Given the description of an element on the screen output the (x, y) to click on. 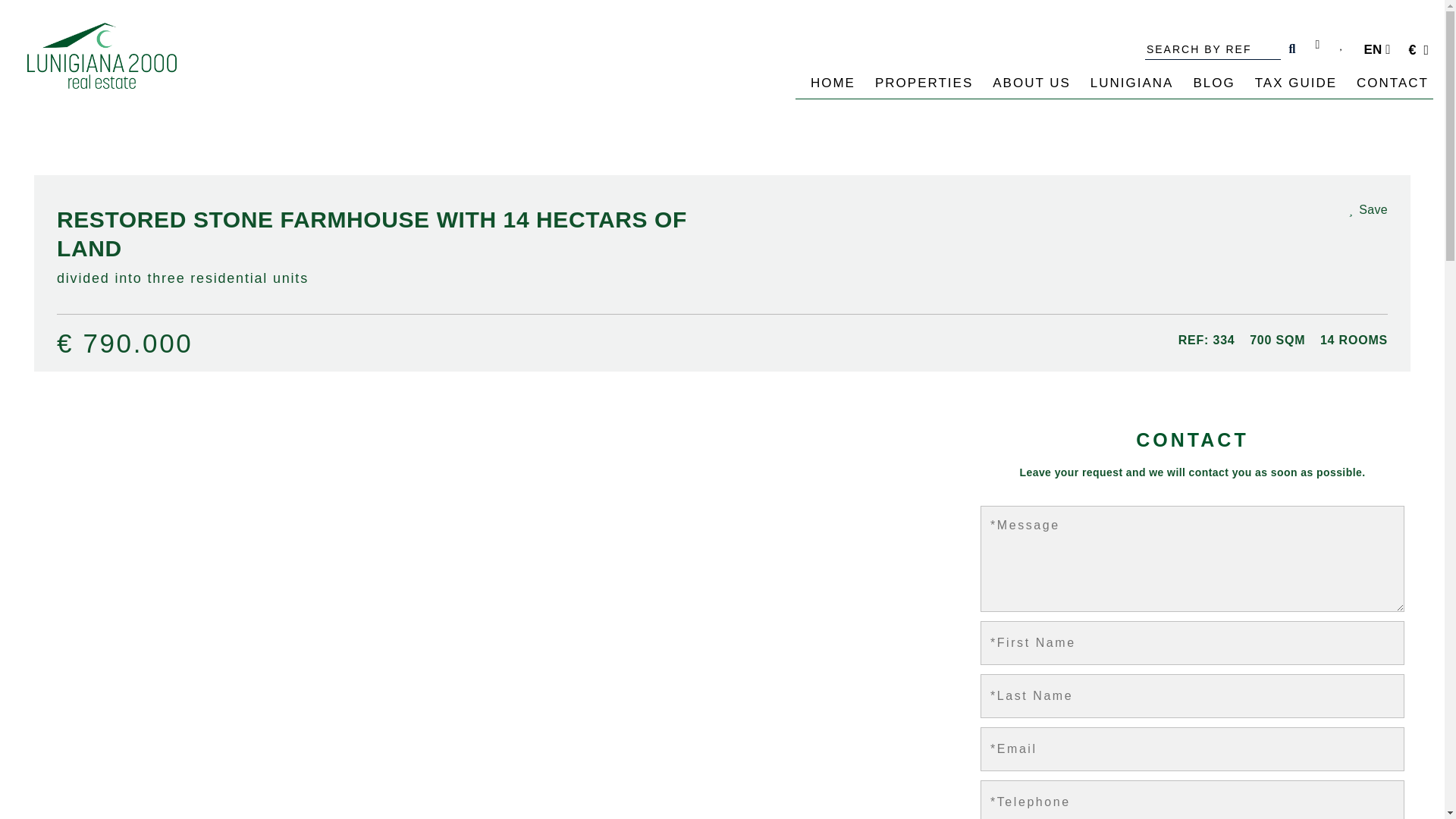
Lunigiana2000 (101, 55)
